Given the description of an element on the screen output the (x, y) to click on. 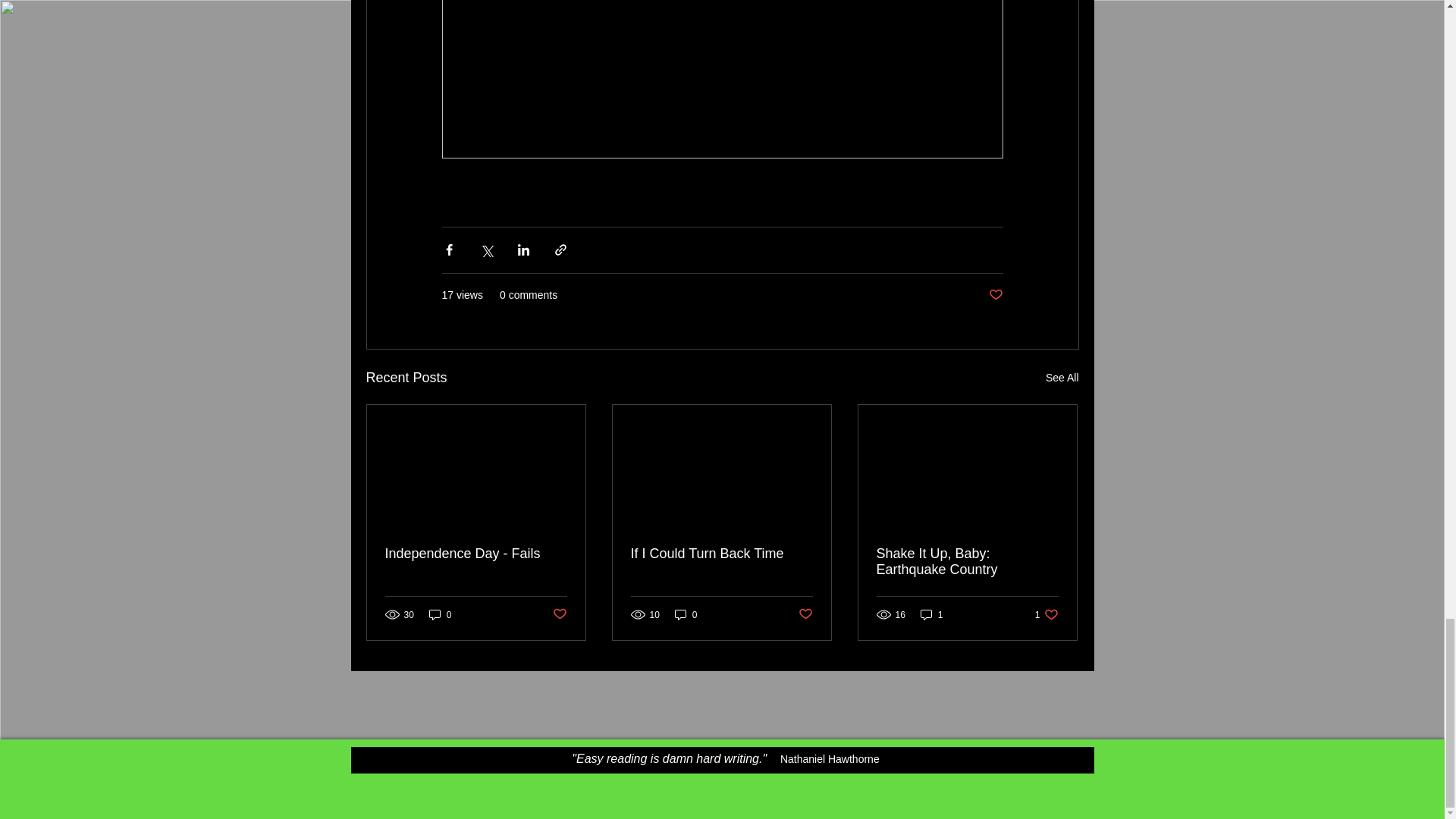
If I Could Turn Back Time (721, 553)
Post not marked as liked (558, 614)
Post not marked as liked (804, 614)
0 (685, 614)
See All (1046, 614)
Shake It Up, Baby: Earthquake Country (1061, 377)
Independence Day - Fails (967, 562)
0 (476, 553)
1 (440, 614)
